Given the description of an element on the screen output the (x, y) to click on. 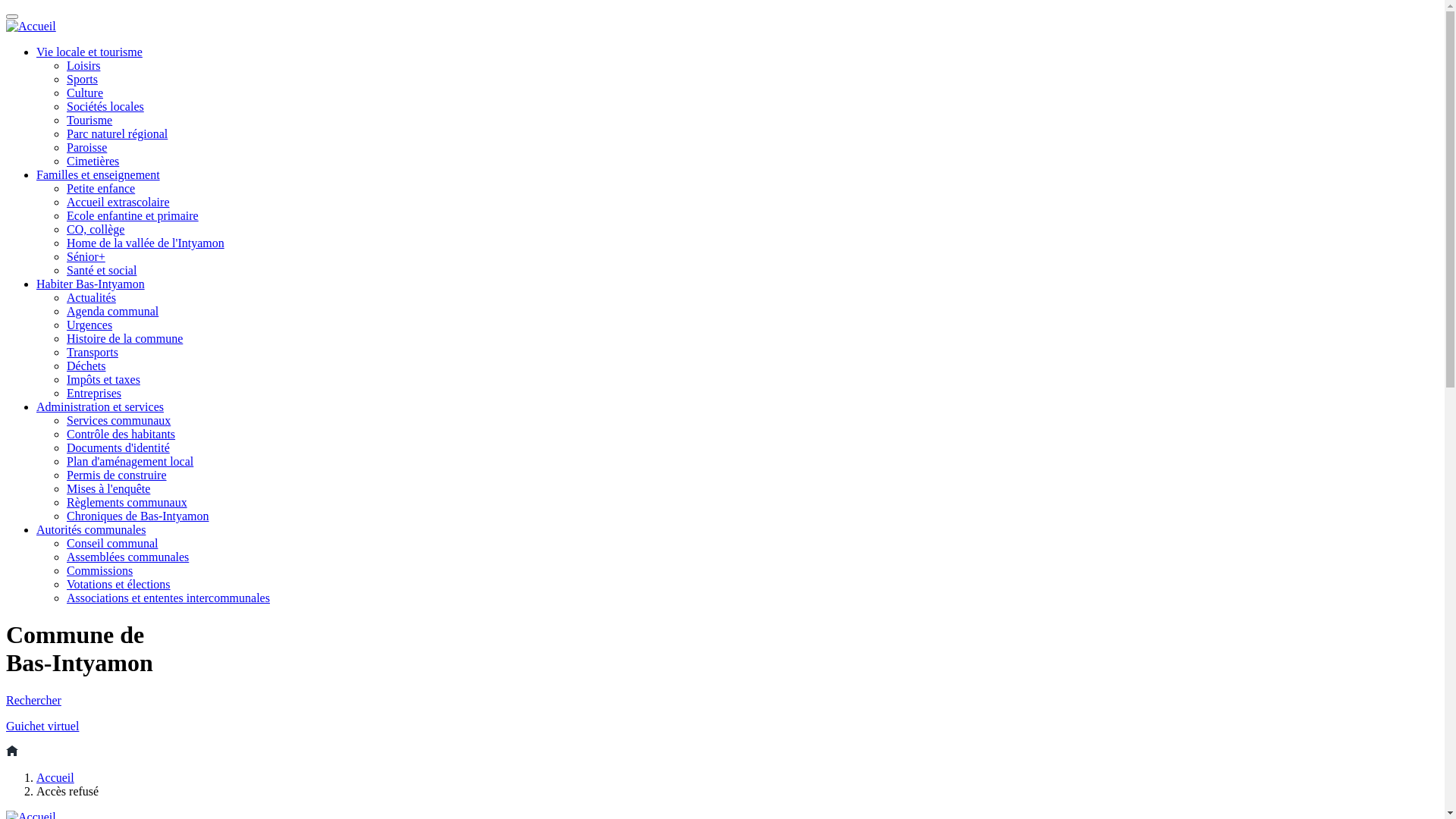
Conseil communal Element type: text (111, 542)
Agenda communal Element type: text (112, 310)
Guichet virtuel Element type: text (42, 725)
Vie locale et tourisme Element type: text (89, 51)
Paroisse Element type: text (86, 147)
Accueil Element type: text (55, 777)
Associations et ententes intercommunales Element type: text (167, 597)
Permis de construire Element type: text (116, 474)
Aller au contenu principal Element type: text (6, 6)
Services communaux Element type: text (118, 420)
Accueil extrascolaire Element type: text (117, 201)
Habiter Bas-Intyamon Element type: text (90, 283)
Loisirs Element type: text (83, 65)
Entreprises Element type: text (93, 392)
Histoire de la commune Element type: text (124, 338)
Urgences Element type: text (89, 324)
Rechercher Element type: text (33, 699)
Culture Element type: text (84, 92)
Chroniques de Bas-Intyamon Element type: text (137, 515)
Petite enfance Element type: text (100, 188)
Transports Element type: text (92, 351)
Familles et enseignement Element type: text (98, 174)
Administration et services Element type: text (99, 406)
Tourisme Element type: text (89, 119)
Sports Element type: text (81, 78)
Ecole enfantine et primaire Element type: text (132, 215)
Commissions Element type: text (99, 570)
